Given the description of an element on the screen output the (x, y) to click on. 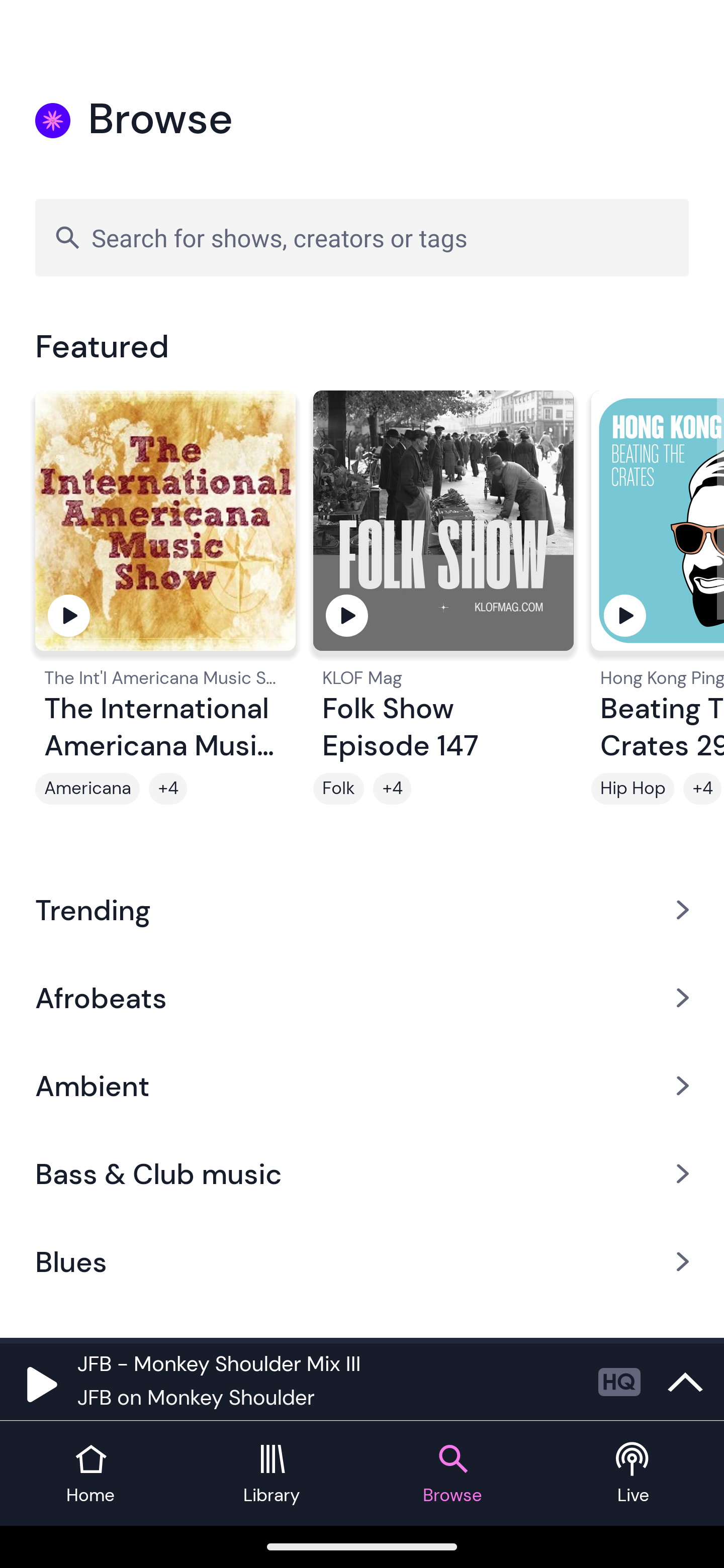
Search for shows, creators or tags (361, 237)
Americana (87, 788)
Folk (338, 788)
Hip Hop (632, 788)
Trending (361, 909)
Afrobeats (361, 997)
Ambient (361, 1085)
Bass & Club music (361, 1174)
Blues (361, 1262)
Home tab Home (90, 1473)
Library tab Library (271, 1473)
Browse tab Browse (452, 1473)
Live tab Live (633, 1473)
